Given the description of an element on the screen output the (x, y) to click on. 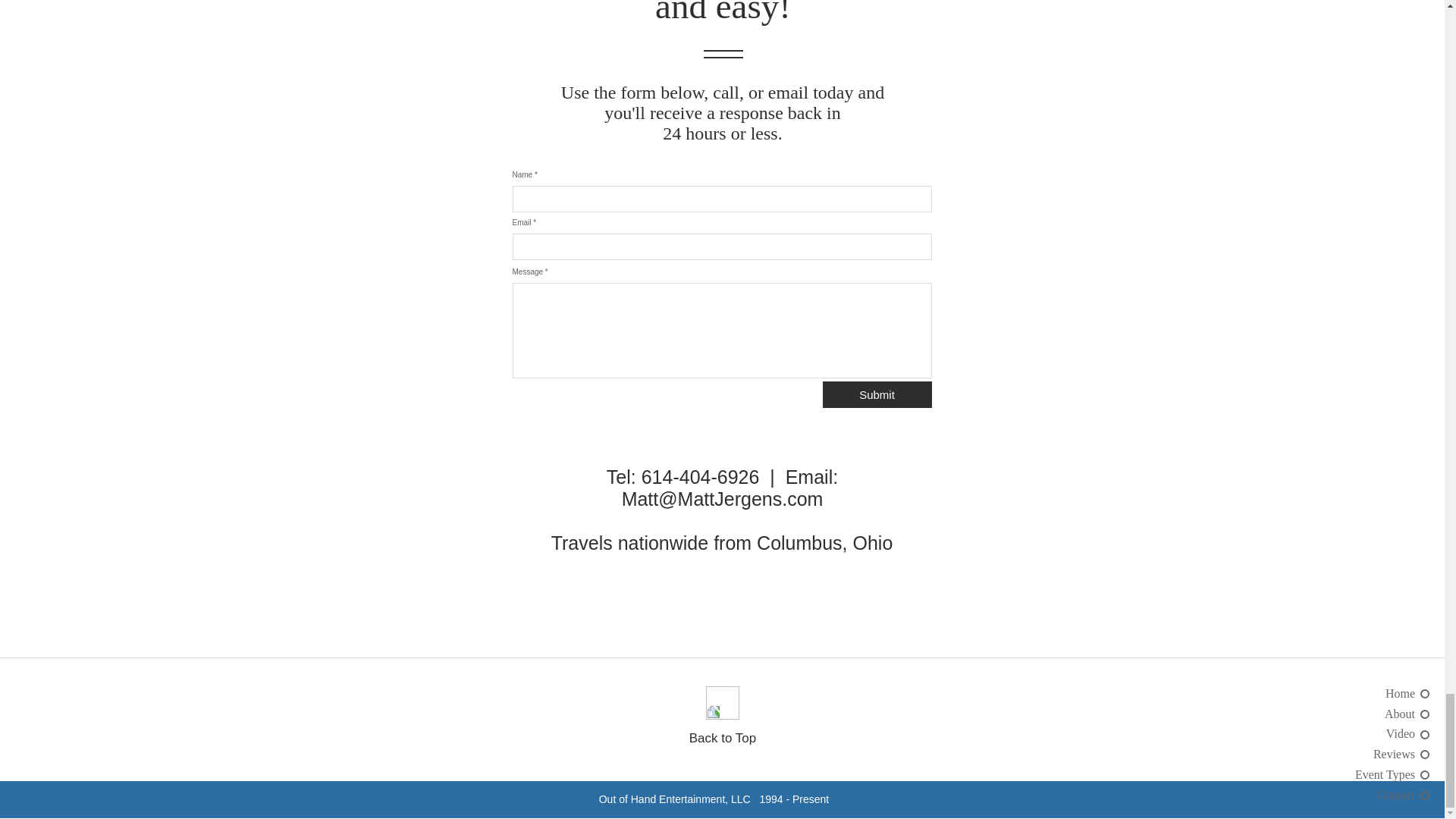
Submit (876, 394)
Back to Top (722, 738)
